Given the description of an element on the screen output the (x, y) to click on. 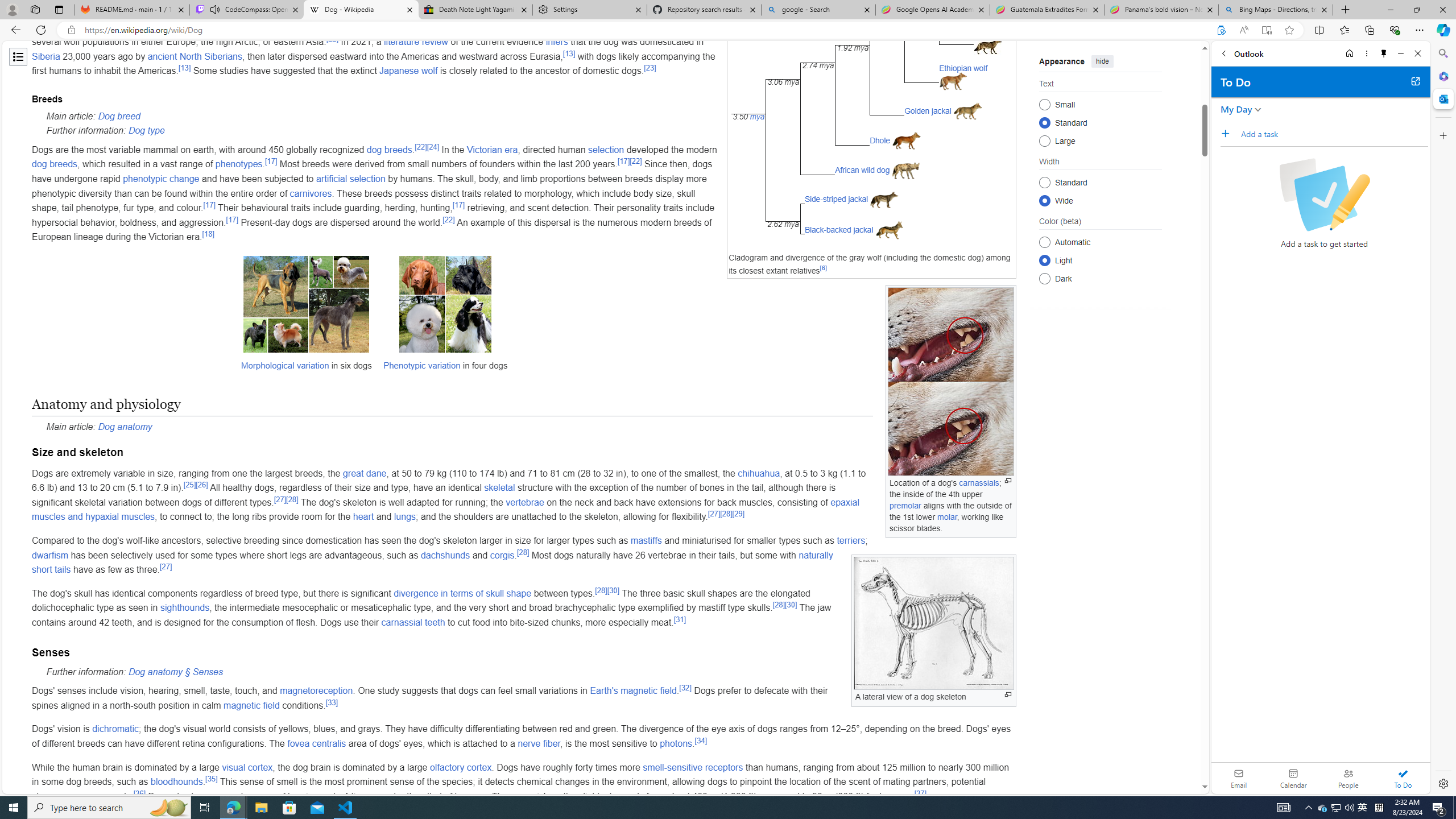
Class: mw-file-description (933, 623)
Earth's magnetic field (633, 691)
To Do (1402, 777)
[33] (330, 701)
[6] (823, 267)
carnassials (978, 483)
[26] (201, 483)
bloodhounds (176, 782)
Morphological variation in six dogs (306, 303)
infers (556, 41)
